Given the description of an element on the screen output the (x, y) to click on. 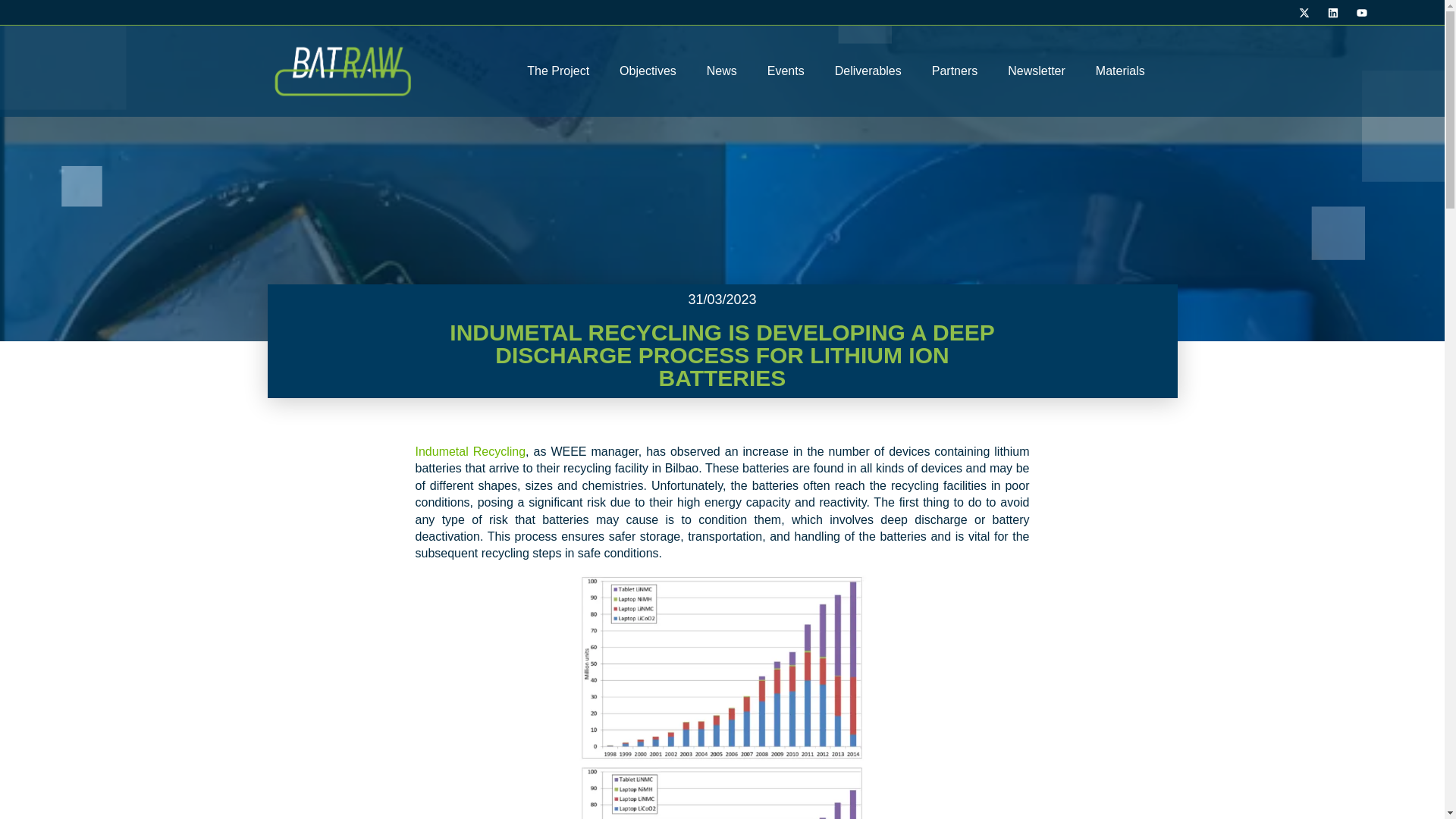
Newsletter (1036, 70)
Objectives (647, 70)
Events (785, 70)
Indumetal Recycling (469, 451)
News (721, 70)
Deliverables (868, 70)
Materials (1120, 70)
Partners (954, 70)
The Project (558, 70)
